Given the description of an element on the screen output the (x, y) to click on. 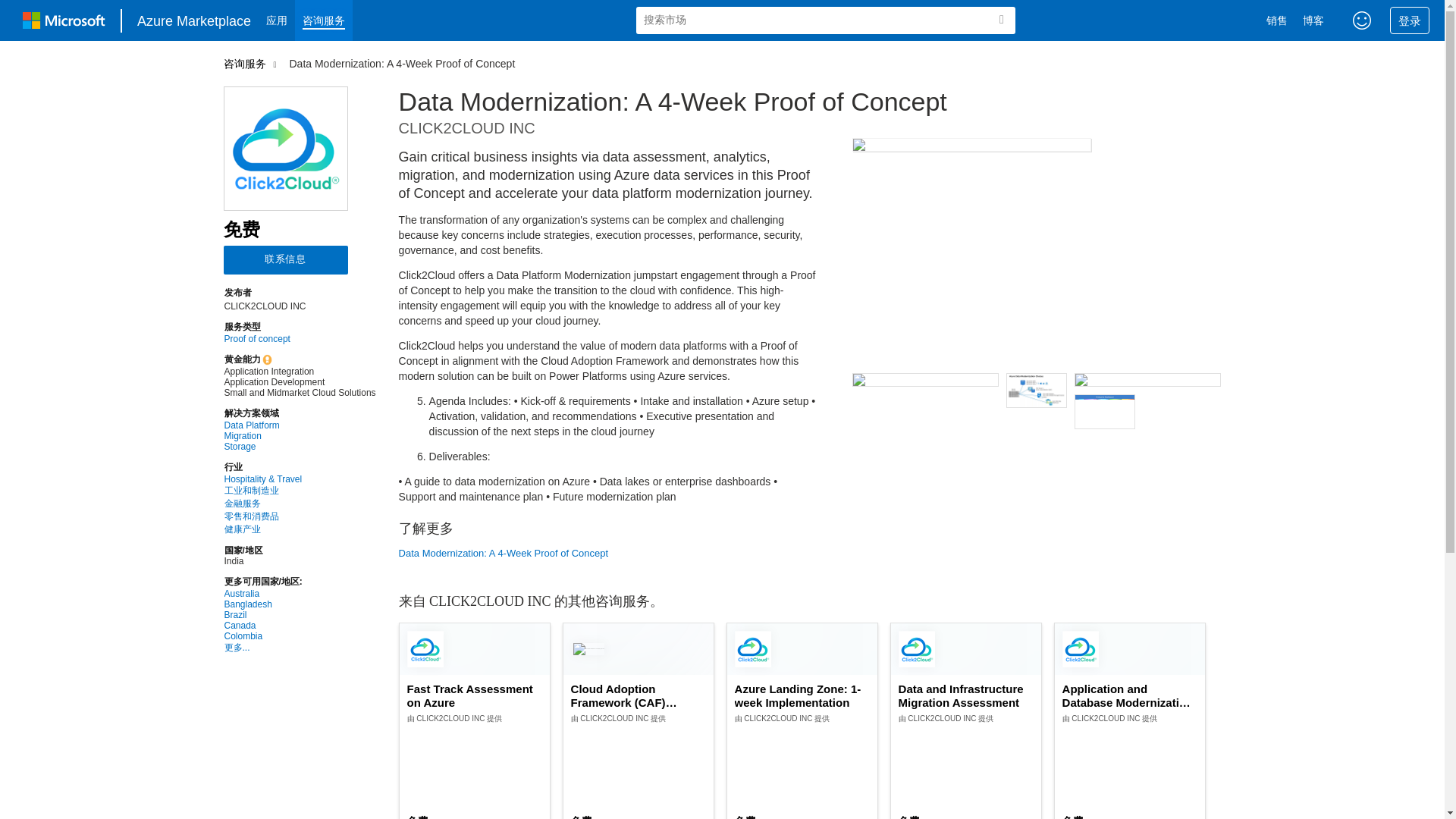
Application and Database Modernization Assessment (1129, 696)
Data and Infrastructure Migration Assessment (965, 696)
Azure Marketplace (194, 20)
Search (1001, 19)
Fast Track Assessment on Azure (474, 696)
Azure Landing Zone: 1- week Implementation (802, 696)
